Given the description of an element on the screen output the (x, y) to click on. 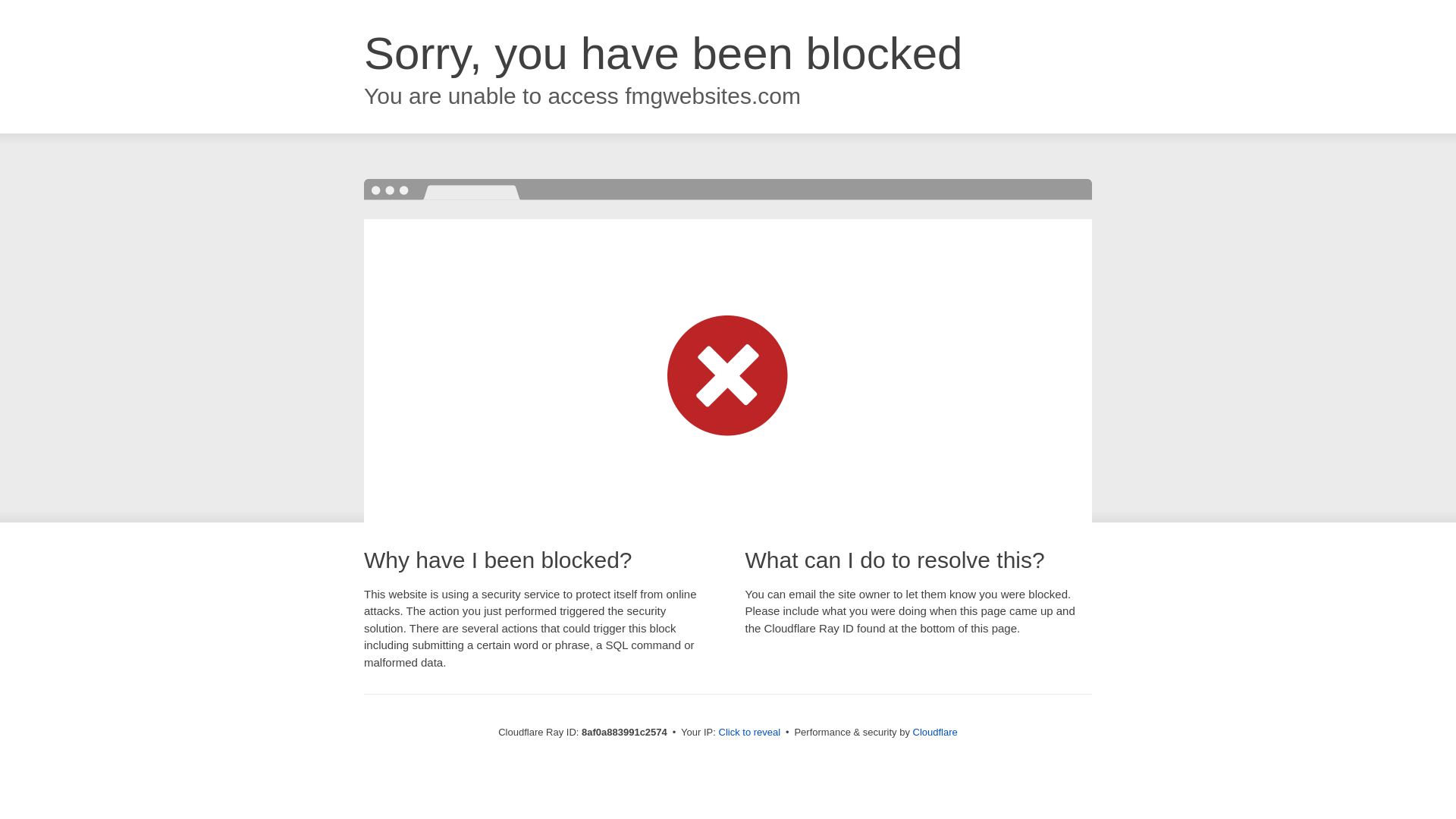
Cloudflare (935, 731)
Click to reveal (749, 732)
